Given the description of an element on the screen output the (x, y) to click on. 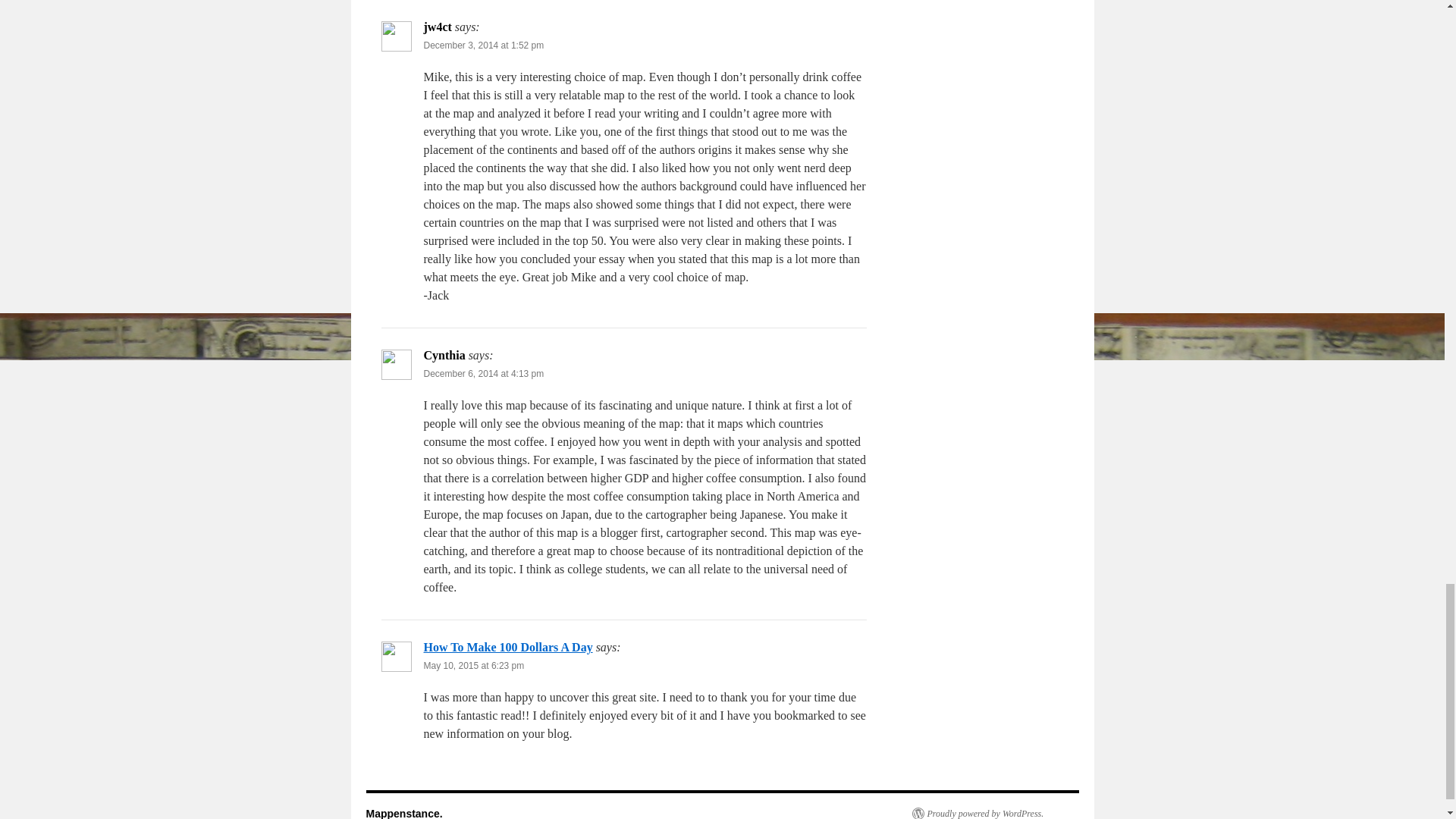
May 10, 2015 at 6:23 pm (473, 665)
December 3, 2014 at 1:52 pm (483, 45)
December 6, 2014 at 4:13 pm (483, 373)
How To Make 100 Dollars A Day (507, 646)
